Given the description of an element on the screen output the (x, y) to click on. 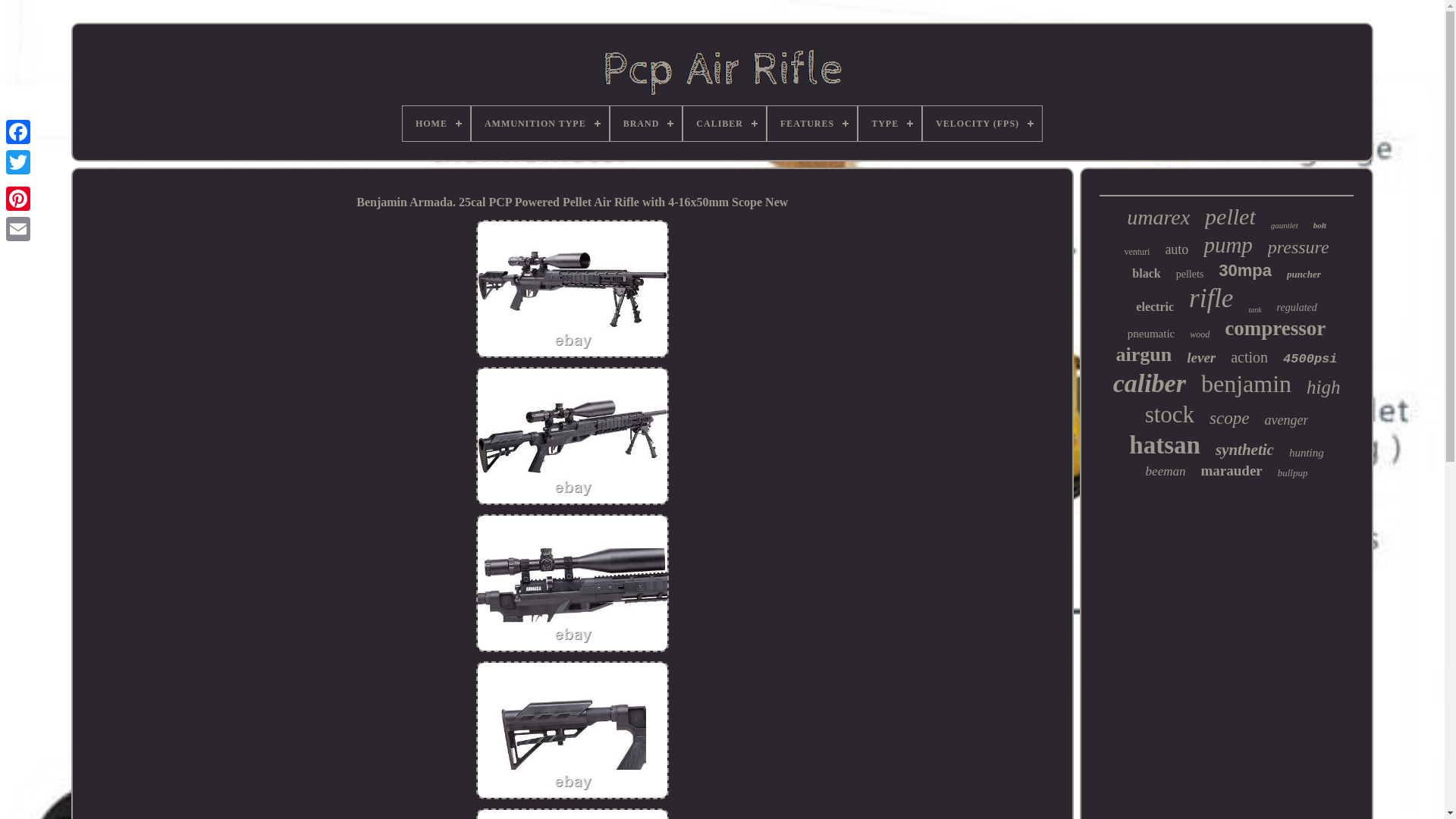
BRAND (646, 123)
HOME (436, 123)
AMMUNITION TYPE (539, 123)
